Given the description of an element on the screen output the (x, y) to click on. 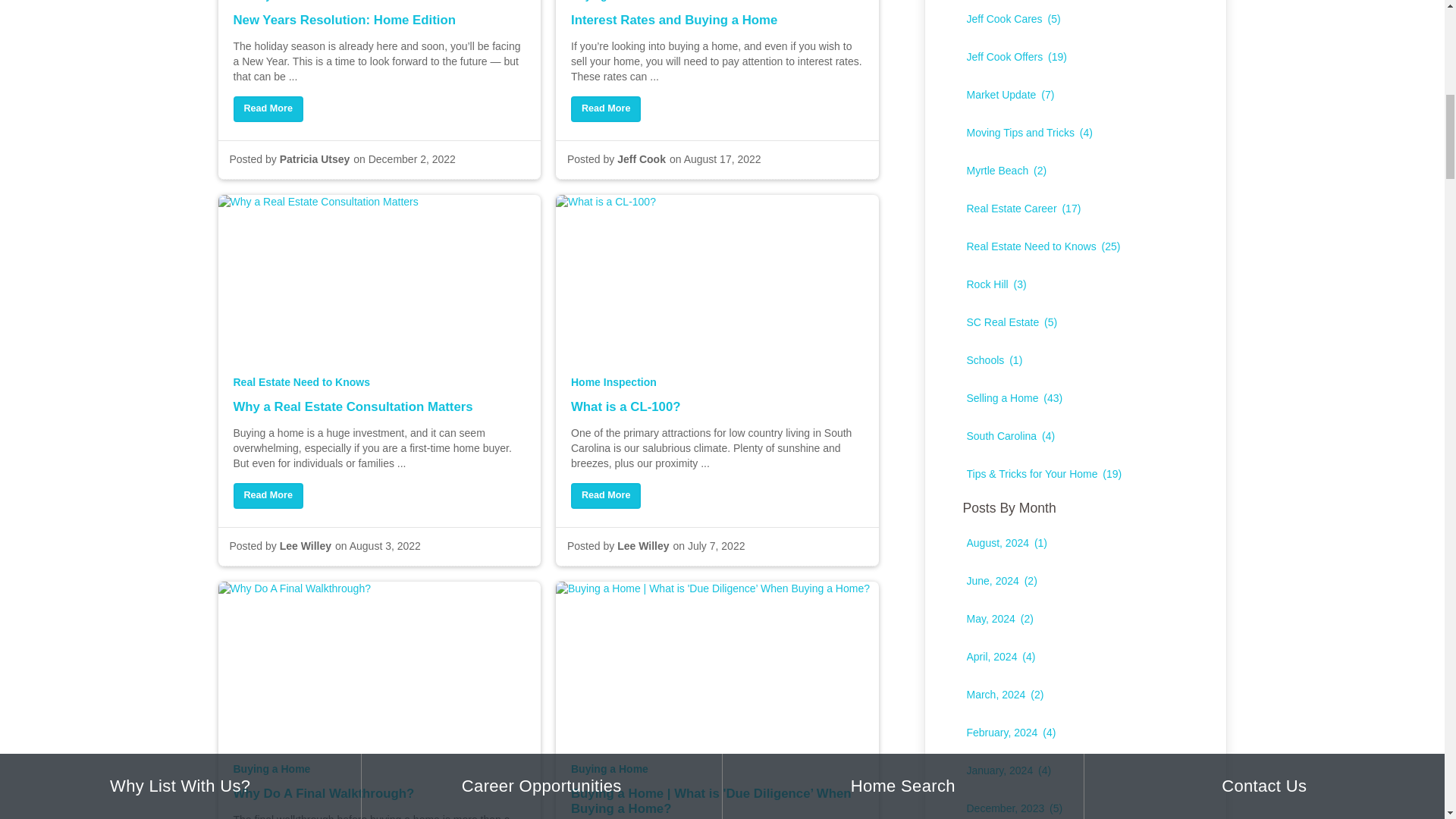
Interest Rates and Buying a Home (605, 109)
Why a Real Estate Consultation Matters (267, 495)
New Years Resolution: Home Edition (378, 32)
Why Do A Final Walkthrough?  (378, 802)
New Years Resolution: Home Edition (267, 109)
What is a CL-100?  (605, 495)
What is a CL-100?  (716, 418)
Why a Real Estate Consultation Matters (378, 418)
Interest Rates and Buying a Home (716, 32)
